Given the description of an element on the screen output the (x, y) to click on. 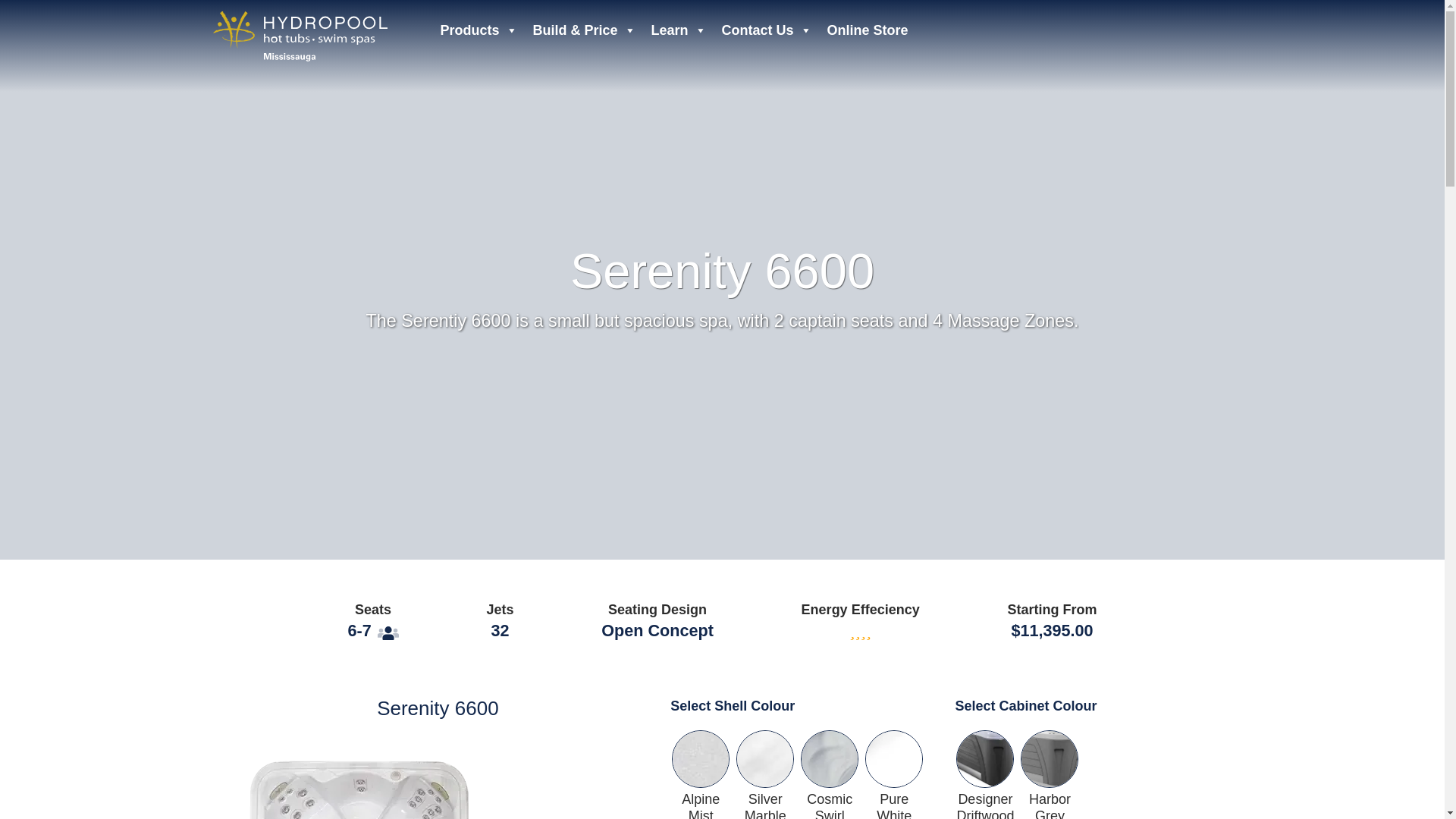
Products (478, 30)
